Given the description of an element on the screen output the (x, y) to click on. 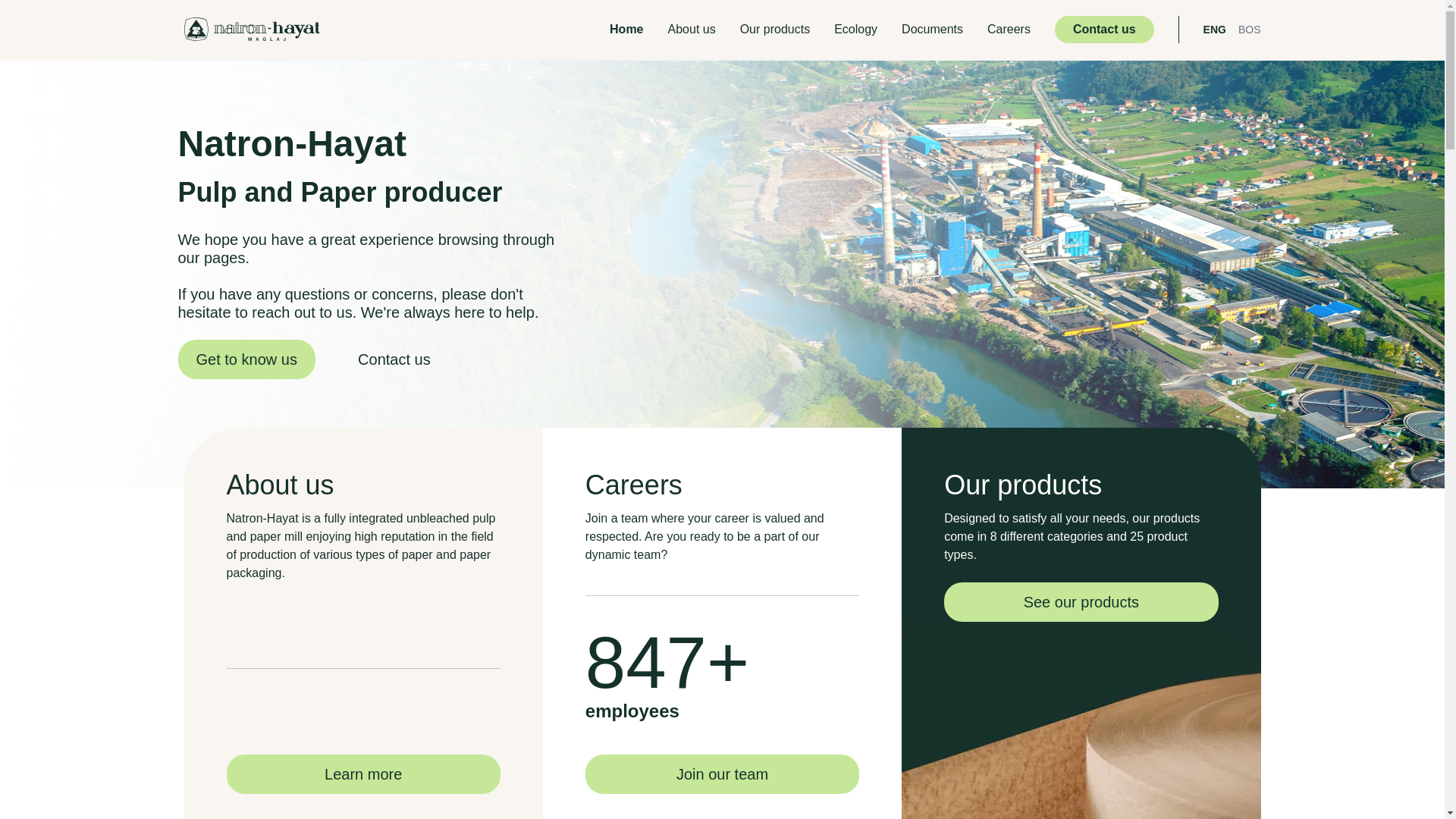
Contact us Element type: text (394, 359)
Contact us Element type: text (1104, 29)
Documents Element type: text (932, 29)
Get to know us Element type: text (245, 359)
About us Element type: text (691, 29)
Learn more Element type: text (362, 773)
Careers Element type: text (1008, 29)
Home Element type: text (626, 29)
Our products Element type: text (774, 29)
BOS Element type: text (1249, 29)
Join our team Element type: text (722, 773)
Ecology Element type: text (855, 29)
ENG Element type: text (1214, 29)
See our products Element type: text (1080, 601)
